Given the description of an element on the screen output the (x, y) to click on. 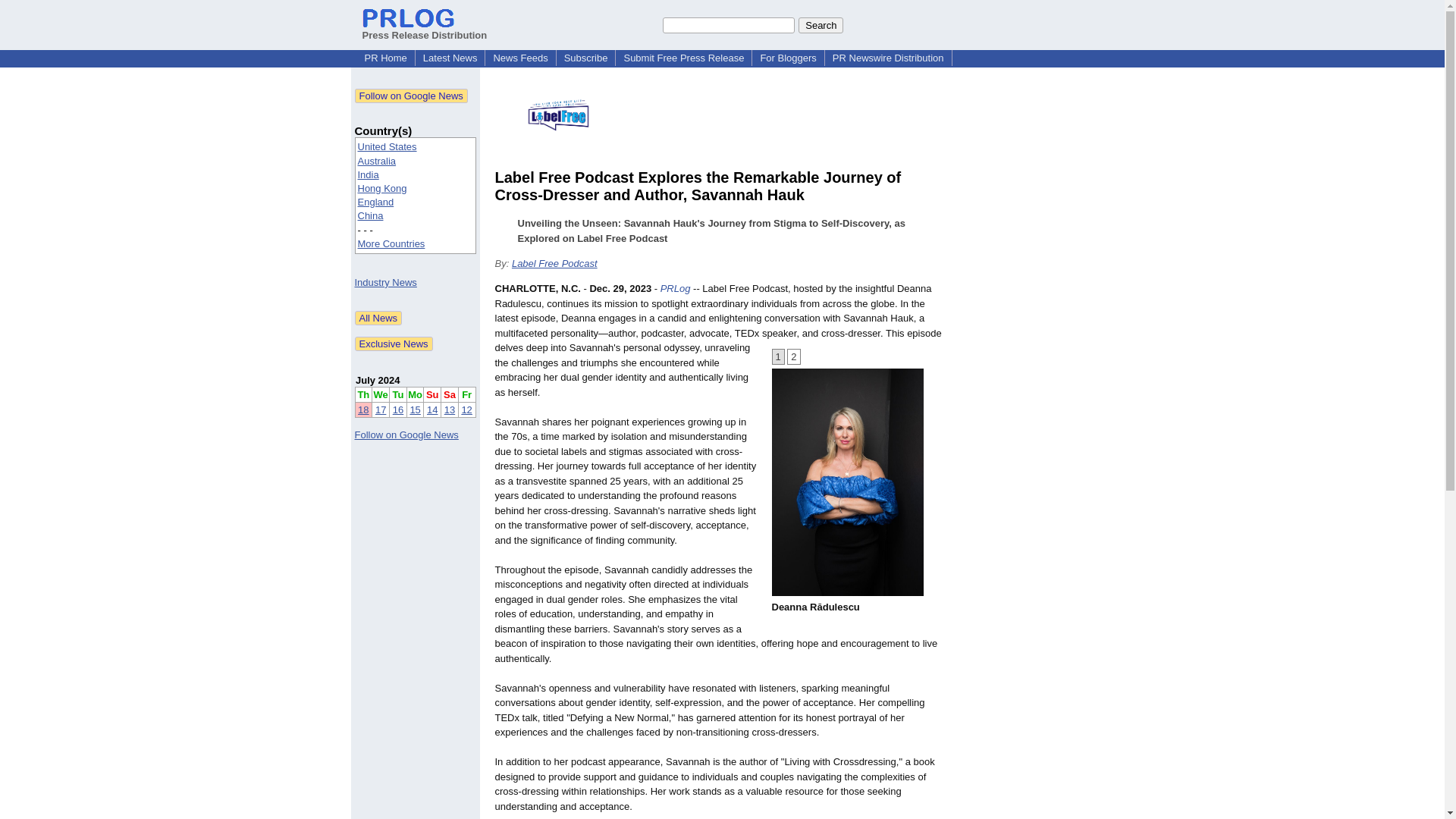
More Countries (391, 243)
Click on an option to filter or browse by that option (415, 195)
PRLog (675, 288)
Industry News (385, 282)
PR Newswire Distribution (888, 57)
Press Release Distribution (424, 29)
Hong Kong (382, 188)
17 (380, 409)
16 (398, 409)
Subscribe (585, 57)
For Bloggers (788, 57)
13 (449, 409)
Exclusive News (393, 343)
China (371, 215)
Submit Free Press Release (683, 57)
